Given the description of an element on the screen output the (x, y) to click on. 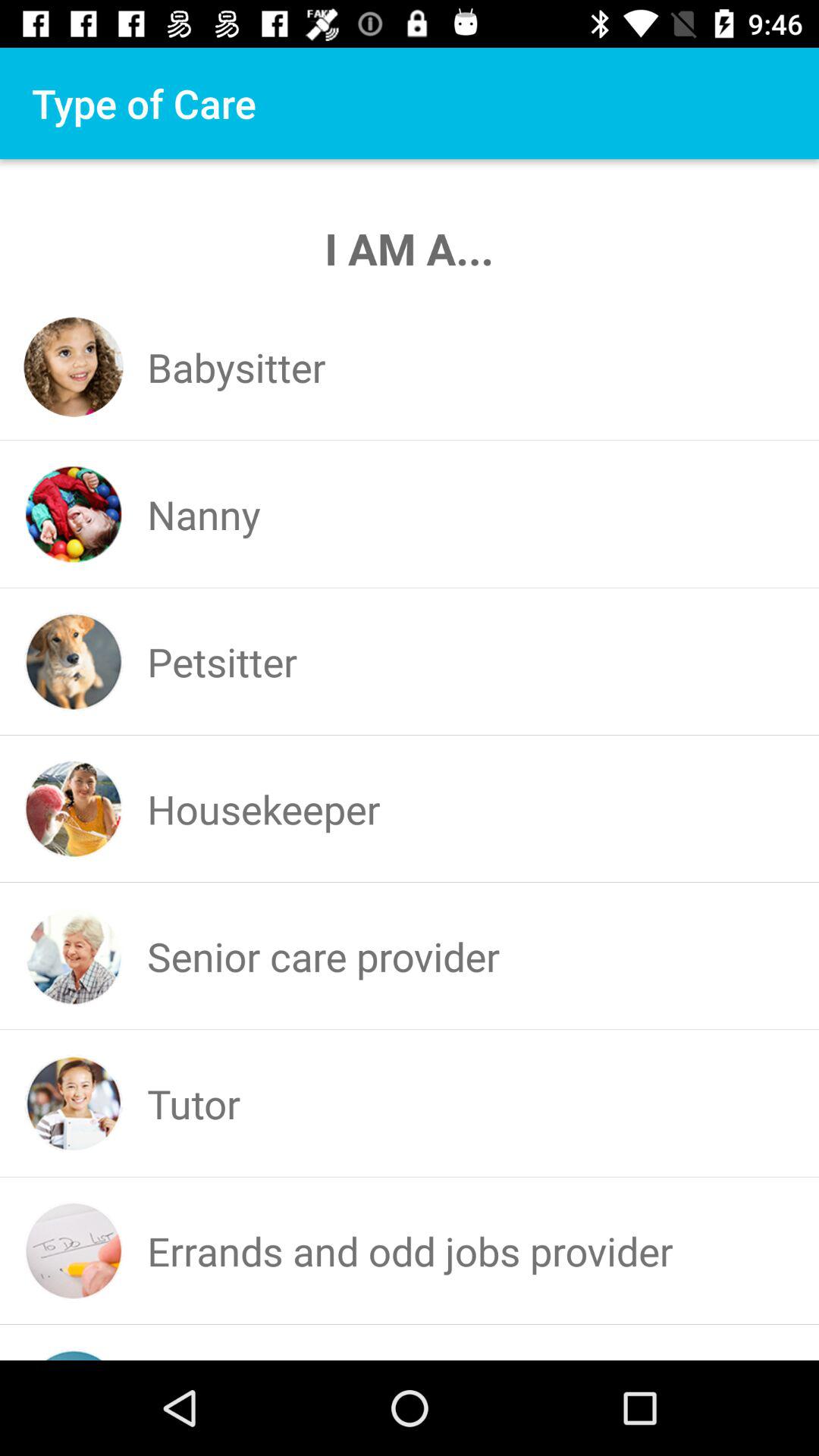
select housekeeper item (263, 808)
